Given the description of an element on the screen output the (x, y) to click on. 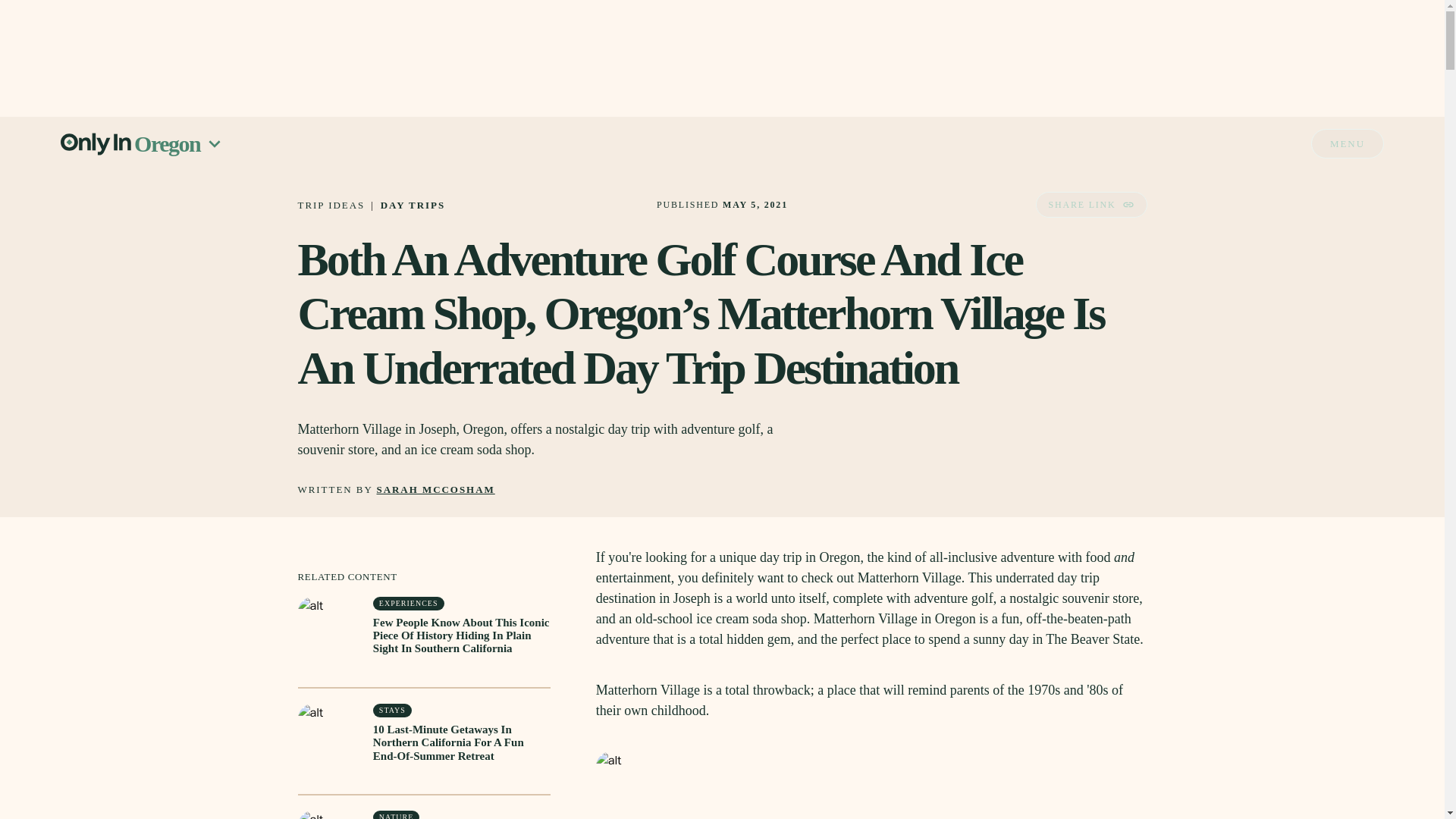
SARAH MCCOSHAM (436, 490)
MENU (1347, 143)
DAY TRIPS (412, 204)
SHARE LINK (1091, 204)
TRIP IDEAS (331, 204)
